Given the description of an element on the screen output the (x, y) to click on. 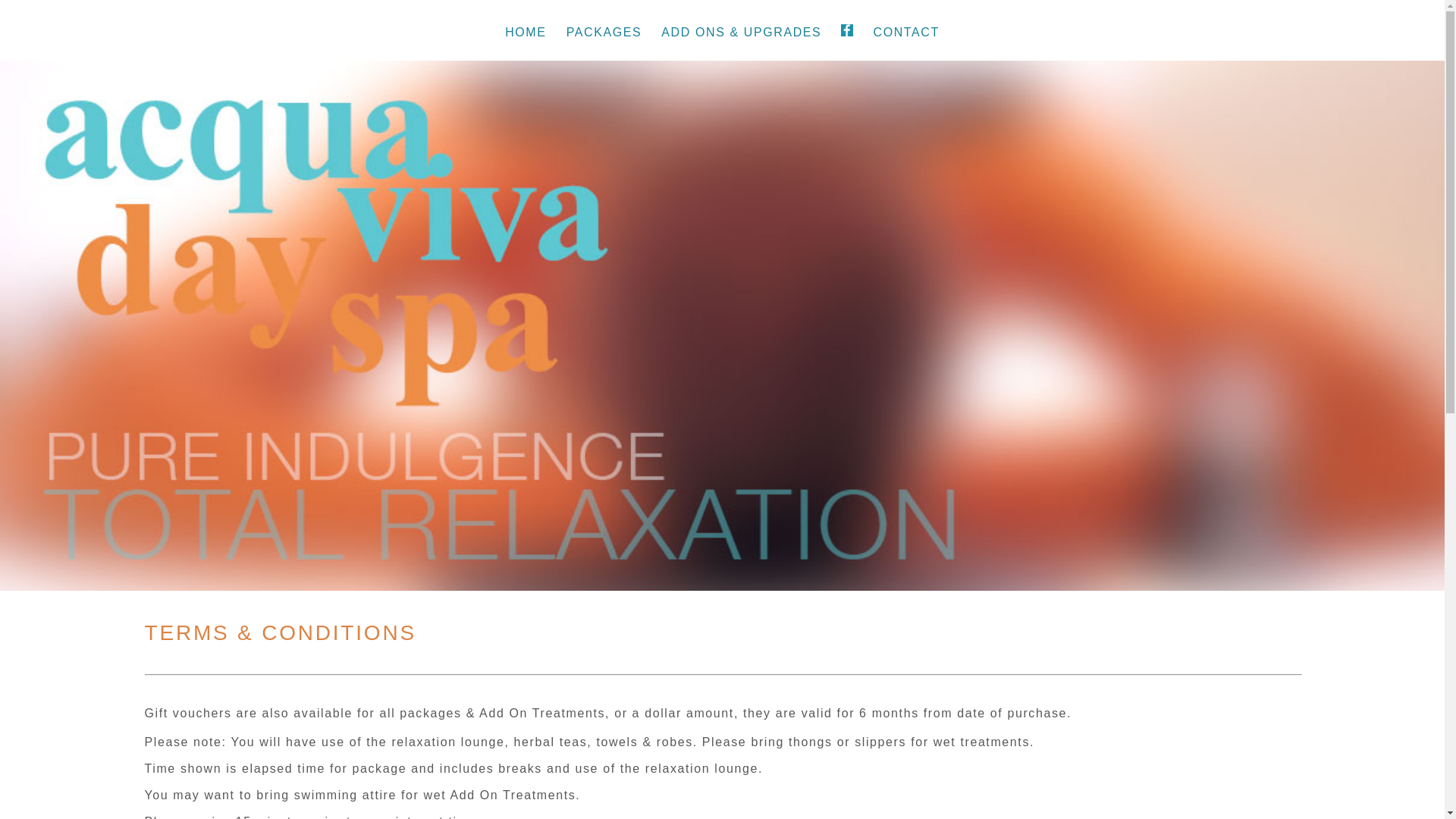
HOME Element type: text (525, 31)
CONTACT Element type: text (905, 31)
PACKAGES Element type: text (603, 31)
Acqua Viva Day Spa Hepburn Springs on Facebook Element type: hover (846, 30)
ADD ONS & UPGRADES Element type: text (740, 31)
